Given the description of an element on the screen output the (x, y) to click on. 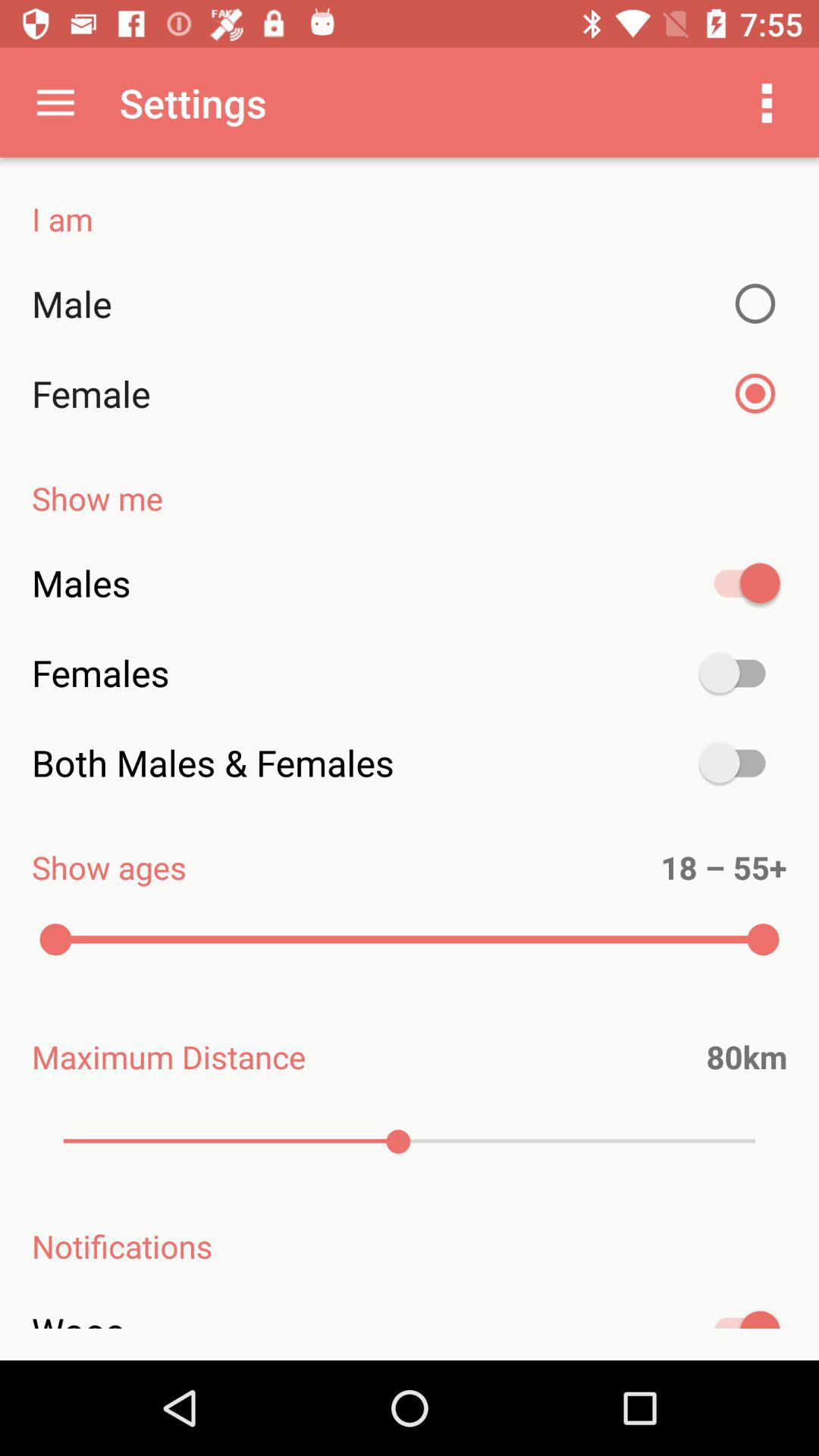
turn on the woos icon (409, 1328)
